Given the description of an element on the screen output the (x, y) to click on. 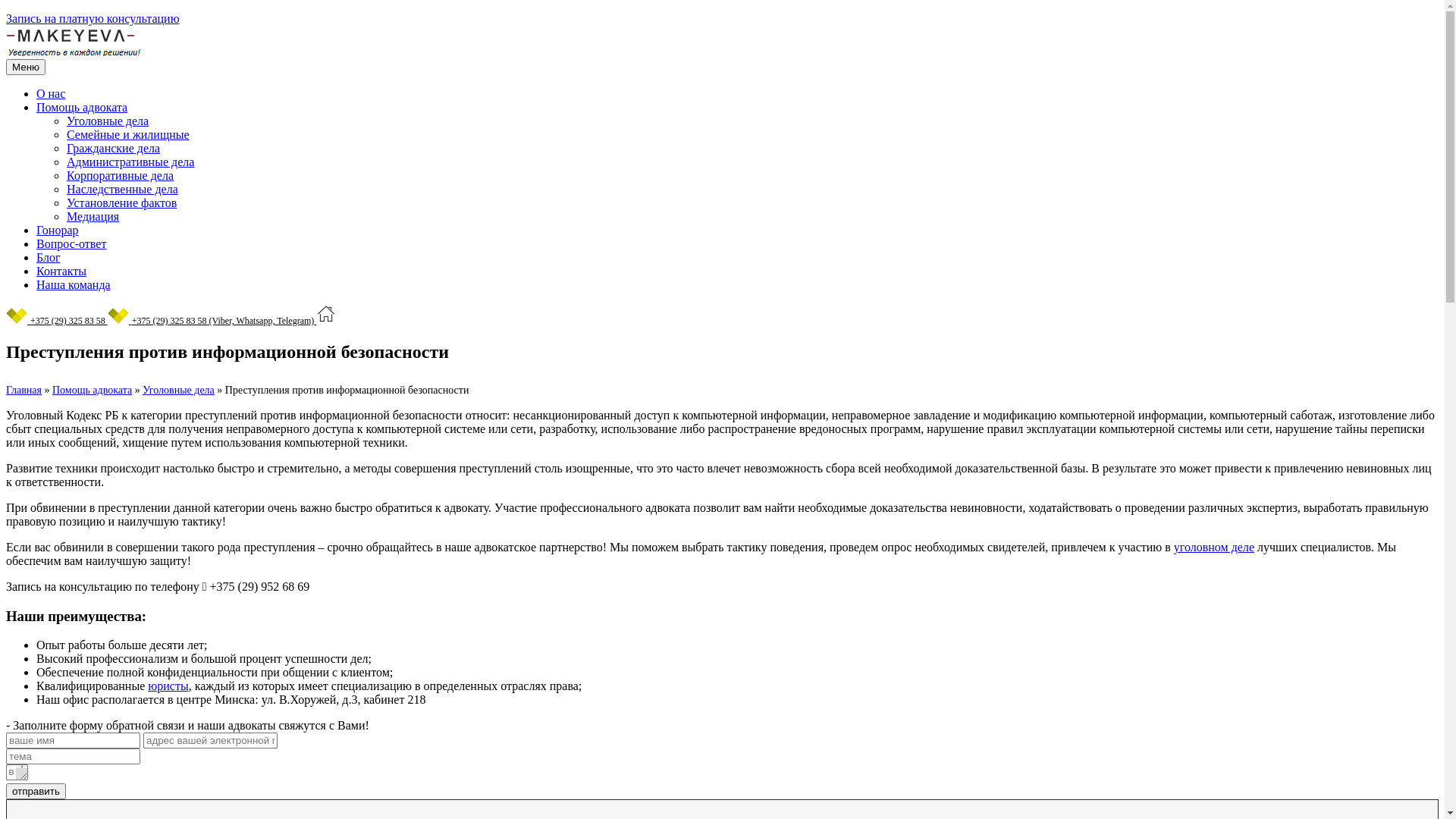
+375 (29) 325 83 58 Element type: text (56, 319)
+375 (29) 325 83 58 (Viber, Whatsapp, Telegram) Element type: text (211, 319)
